Given the description of an element on the screen output the (x, y) to click on. 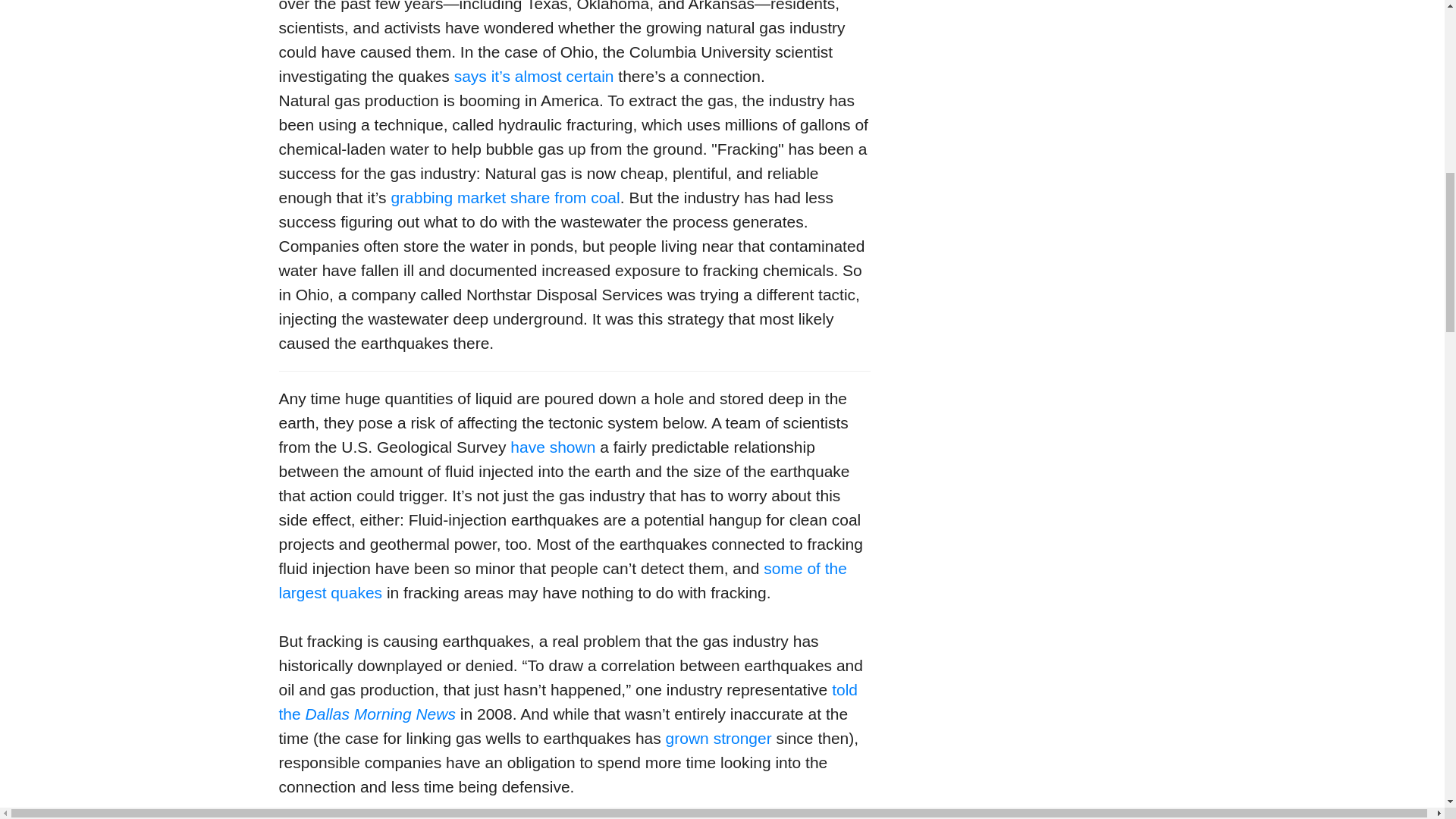
some of the largest quakes (563, 580)
grown (687, 737)
told the Dallas Morning News (569, 701)
have shown (553, 446)
stronger (742, 737)
grabbing market share from coal (505, 197)
